Given the description of an element on the screen output the (x, y) to click on. 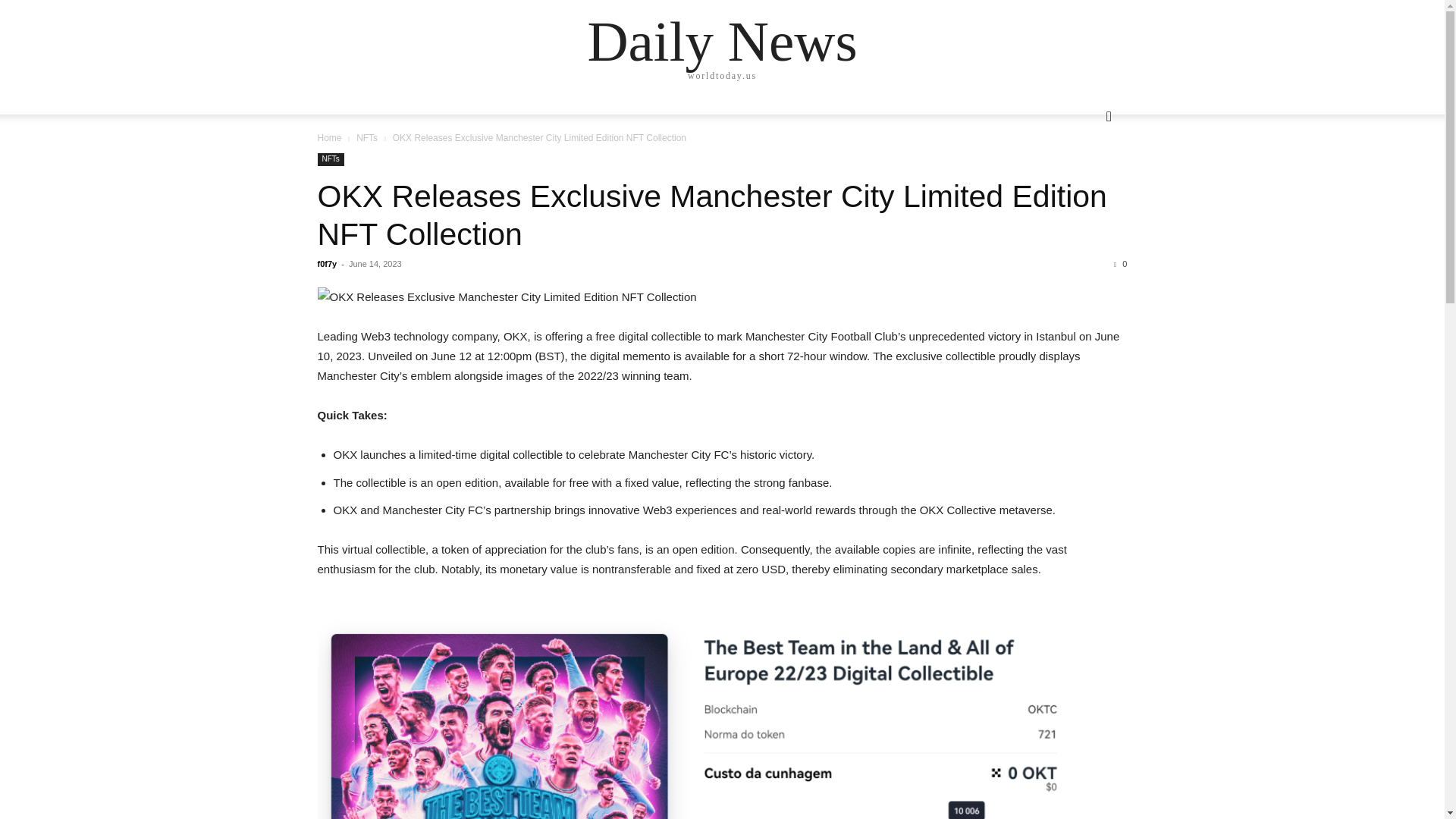
Search (1085, 177)
NFTs (366, 137)
View all posts in NFTs (366, 137)
f0f7y (326, 263)
0 (1119, 263)
Home (328, 137)
NFTs (330, 159)
Daily News (721, 41)
